Given the description of an element on the screen output the (x, y) to click on. 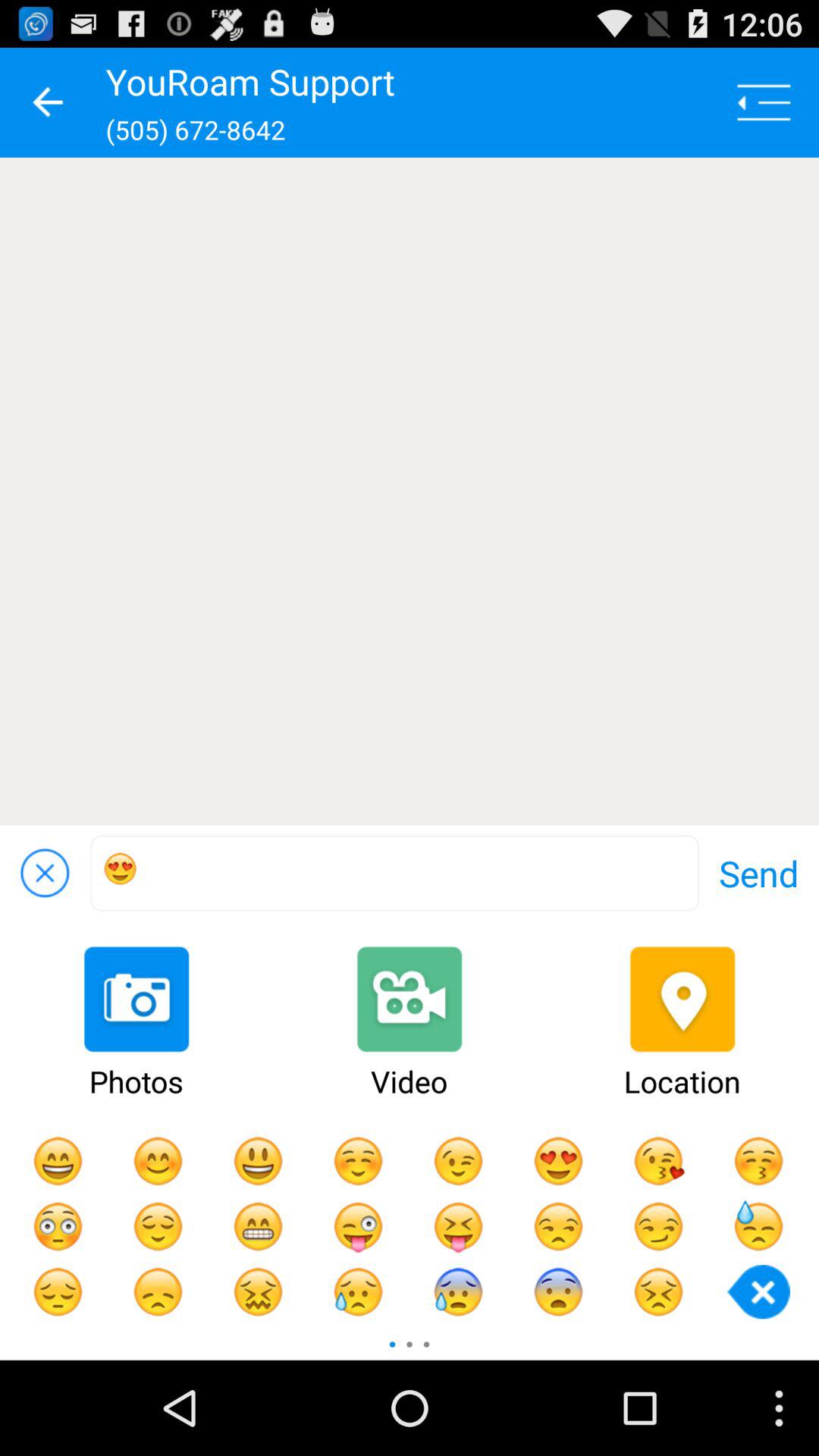
tap the icon above send app (409, 491)
